Given the description of an element on the screen output the (x, y) to click on. 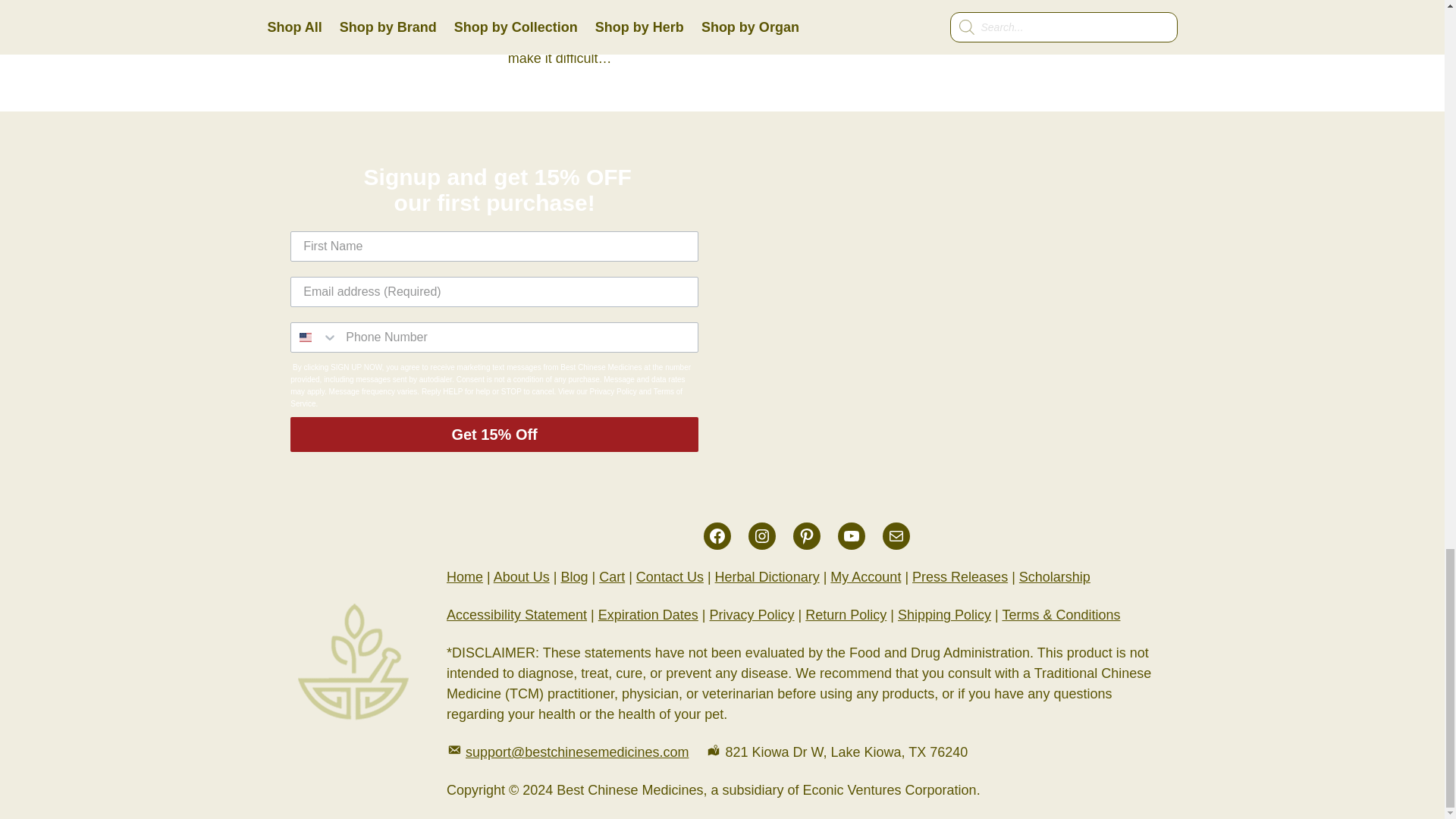
Instagram (762, 535)
Home (464, 576)
Mail (896, 535)
Facebook (716, 535)
YouTube (851, 535)
United States (305, 337)
Pinterest (807, 535)
Cart (611, 576)
Blog (574, 576)
Contact Us (669, 576)
About Us (521, 576)
